Given the description of an element on the screen output the (x, y) to click on. 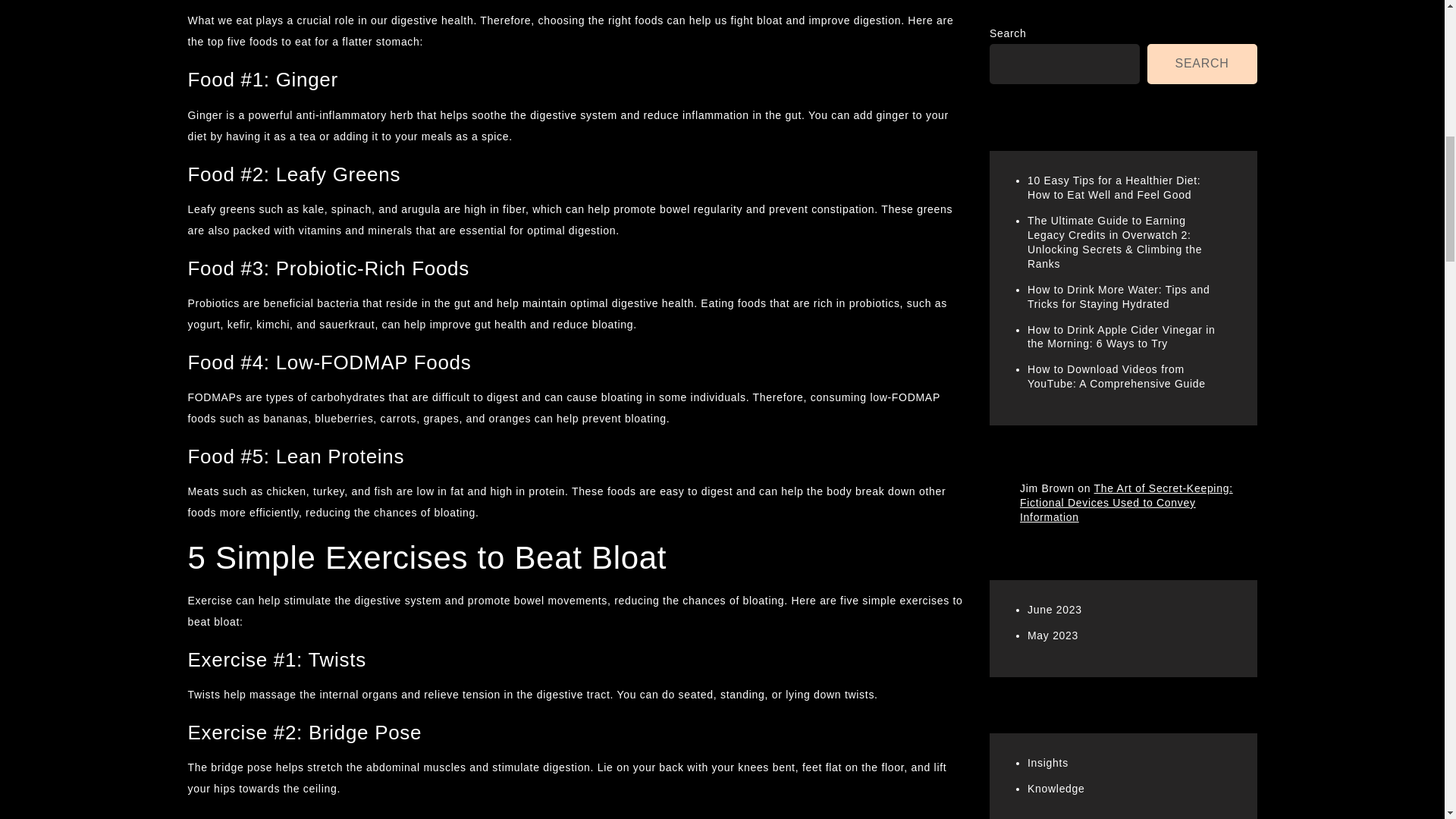
Knowledge (1055, 64)
Insights (1047, 38)
